Given the description of an element on the screen output the (x, y) to click on. 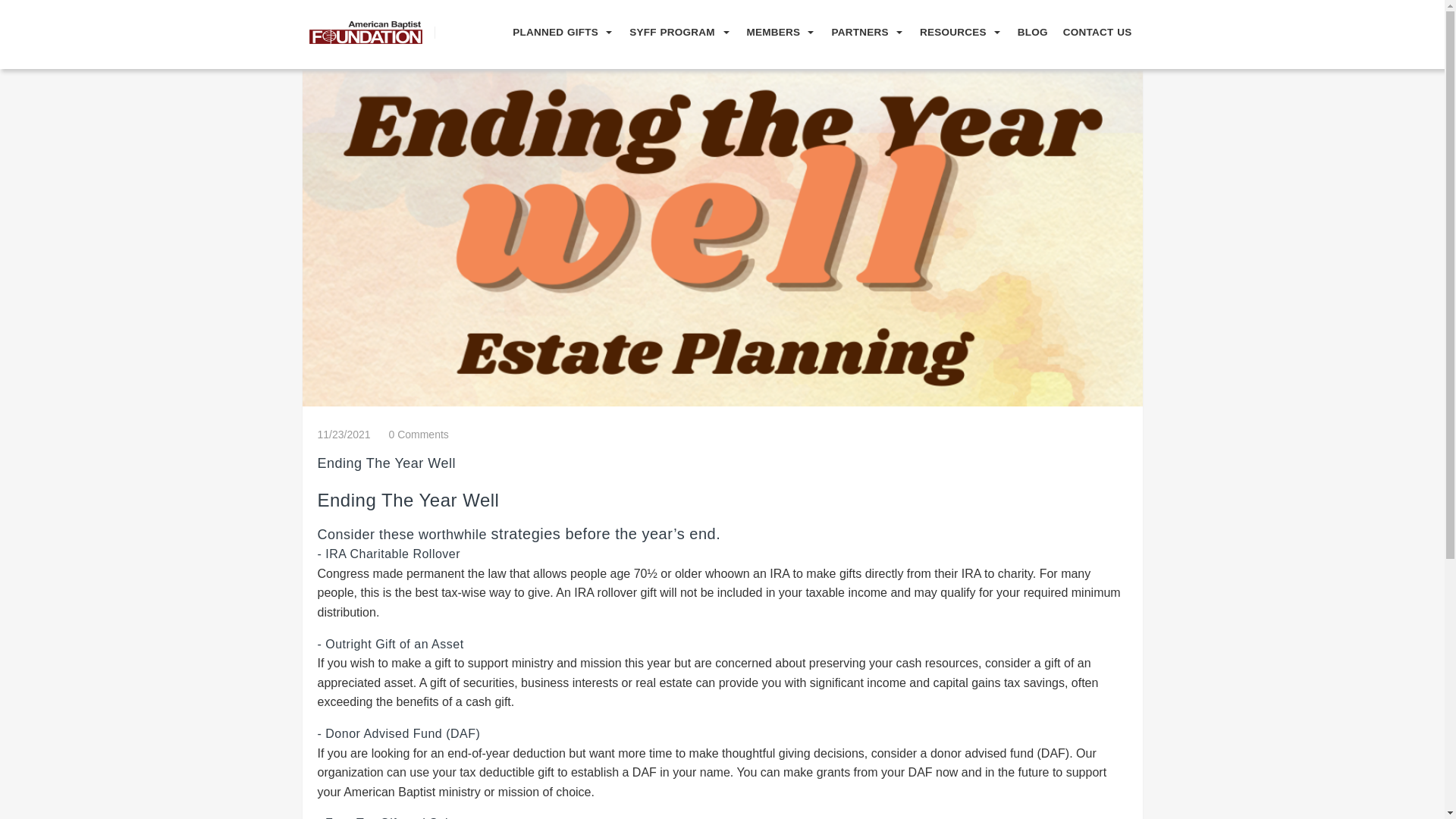
SYFF PROGRAM (668, 32)
MEMBERS (769, 32)
RESOURCES (948, 32)
PARTNERS (854, 32)
0 Comments (418, 434)
CONTACT US (1093, 32)
PLANNED GIFTS (550, 32)
BLOG (1028, 32)
